Given the description of an element on the screen output the (x, y) to click on. 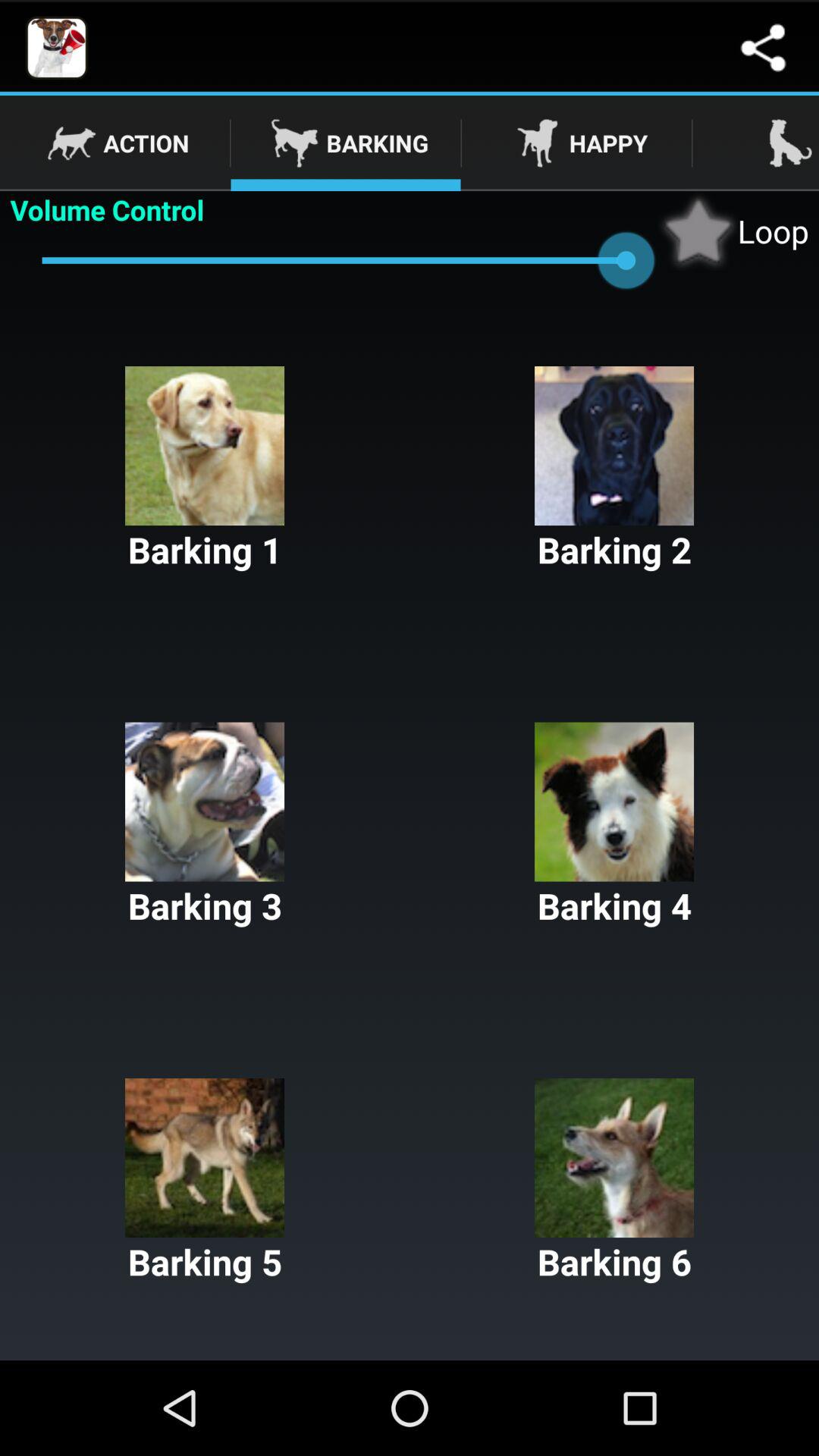
turn on loop (733, 230)
